Given the description of an element on the screen output the (x, y) to click on. 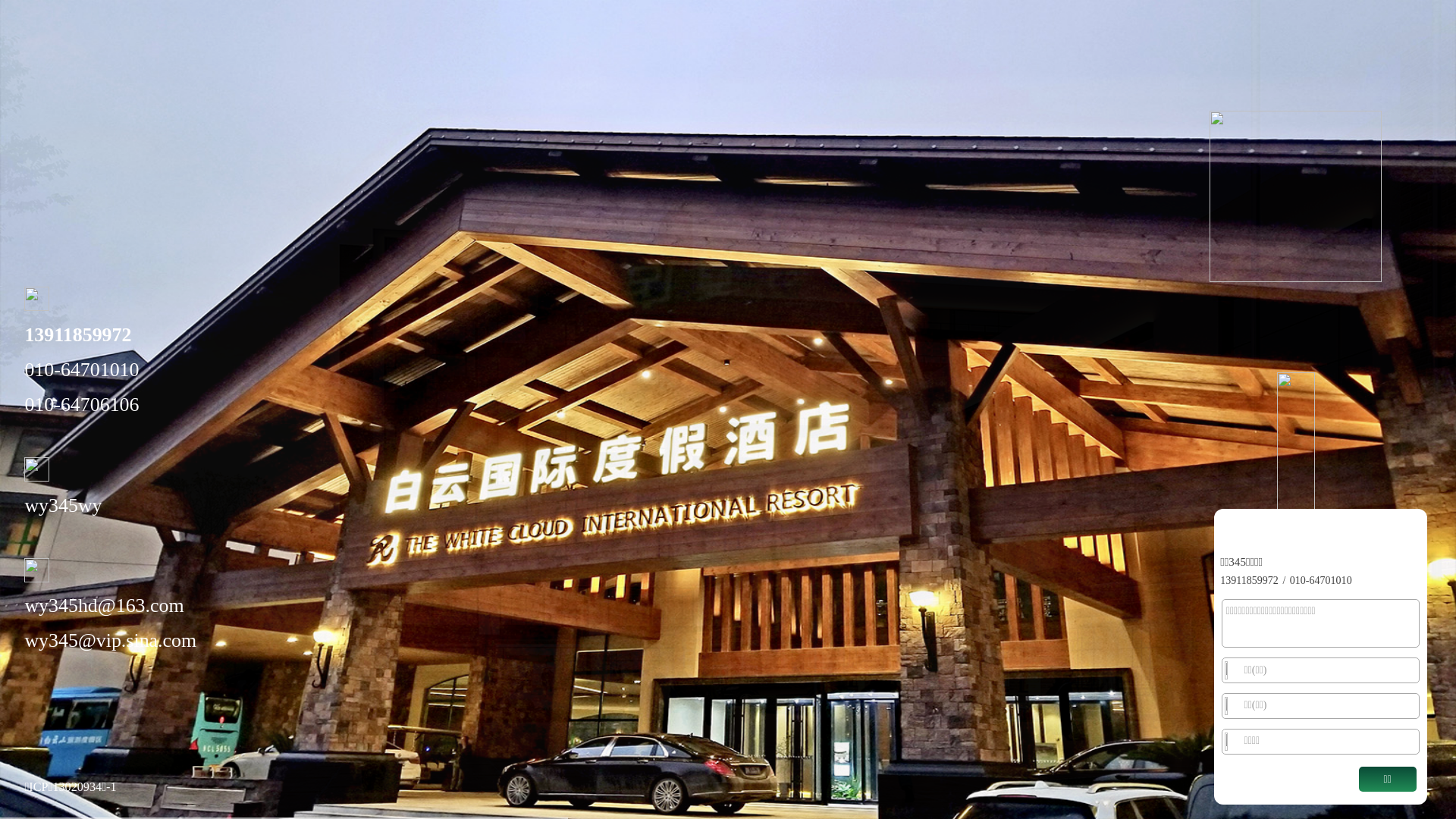
13911859972 / 010-64701010 Element type: text (1285, 580)
